Given the description of an element on the screen output the (x, y) to click on. 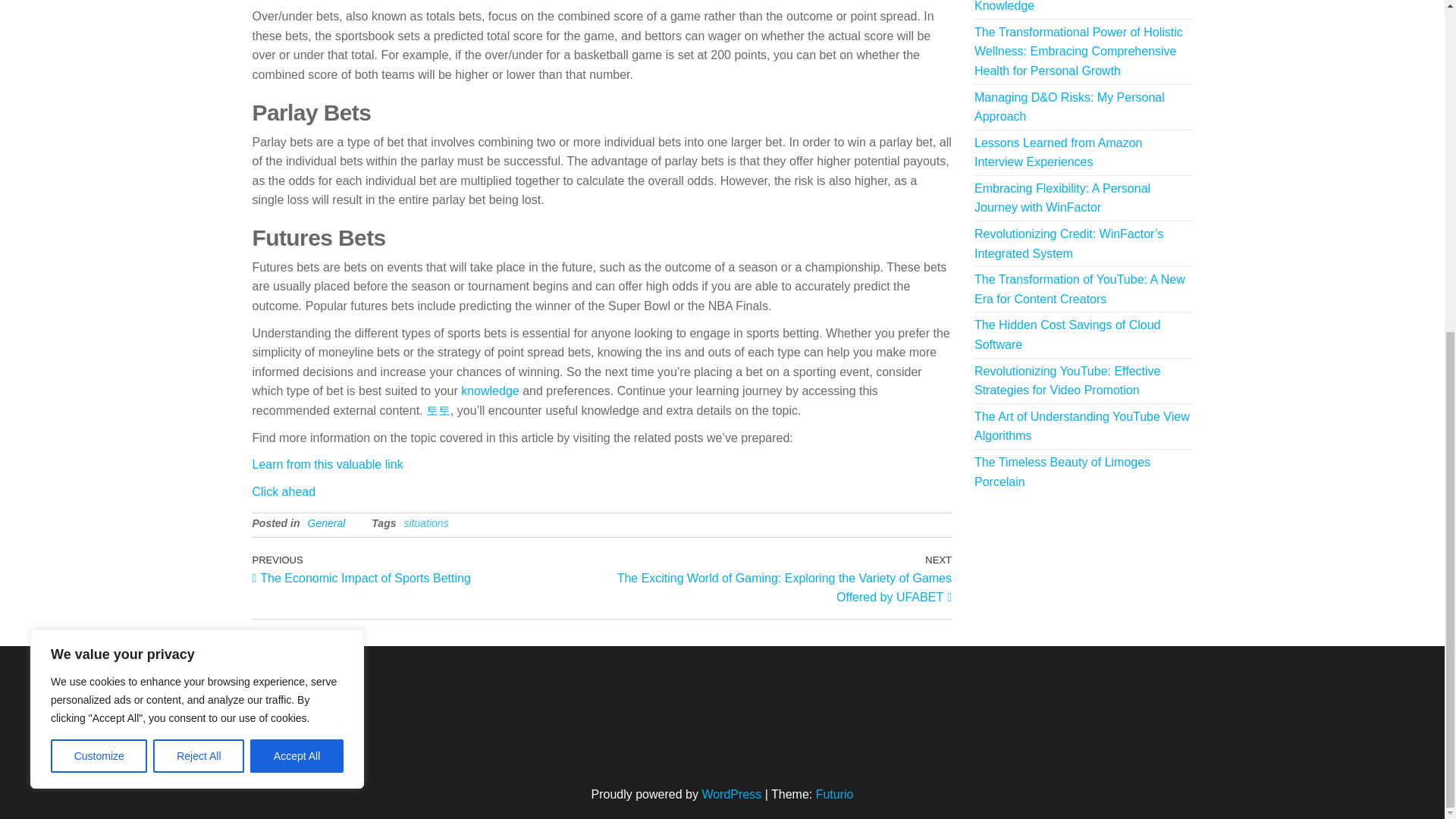
Lessons Learned from Amazon Interview Experiences (1057, 152)
General (326, 522)
Customize (98, 203)
Reject All (198, 203)
situations (425, 522)
knowledge (426, 568)
Learn from this valuable link (490, 390)
Accept All (327, 463)
